Given the description of an element on the screen output the (x, y) to click on. 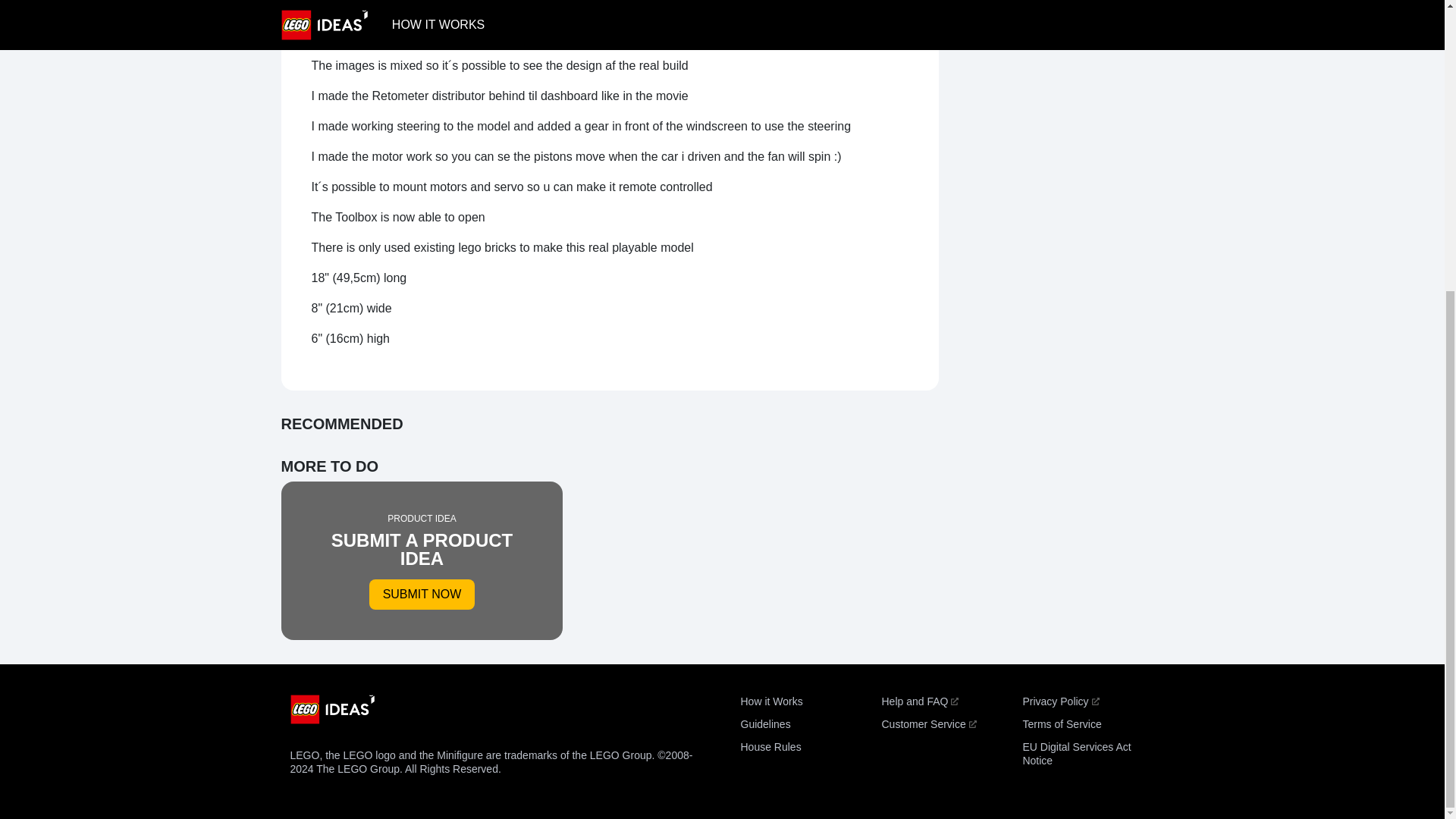
House Rules (769, 746)
Privacy Policy (1060, 701)
Help and FAQ (919, 701)
EU Digital Services Act Notice (1076, 753)
Guidelines (421, 560)
How it Works (764, 724)
Terms of Service (770, 701)
Customer Service (1061, 724)
